Given the description of an element on the screen output the (x, y) to click on. 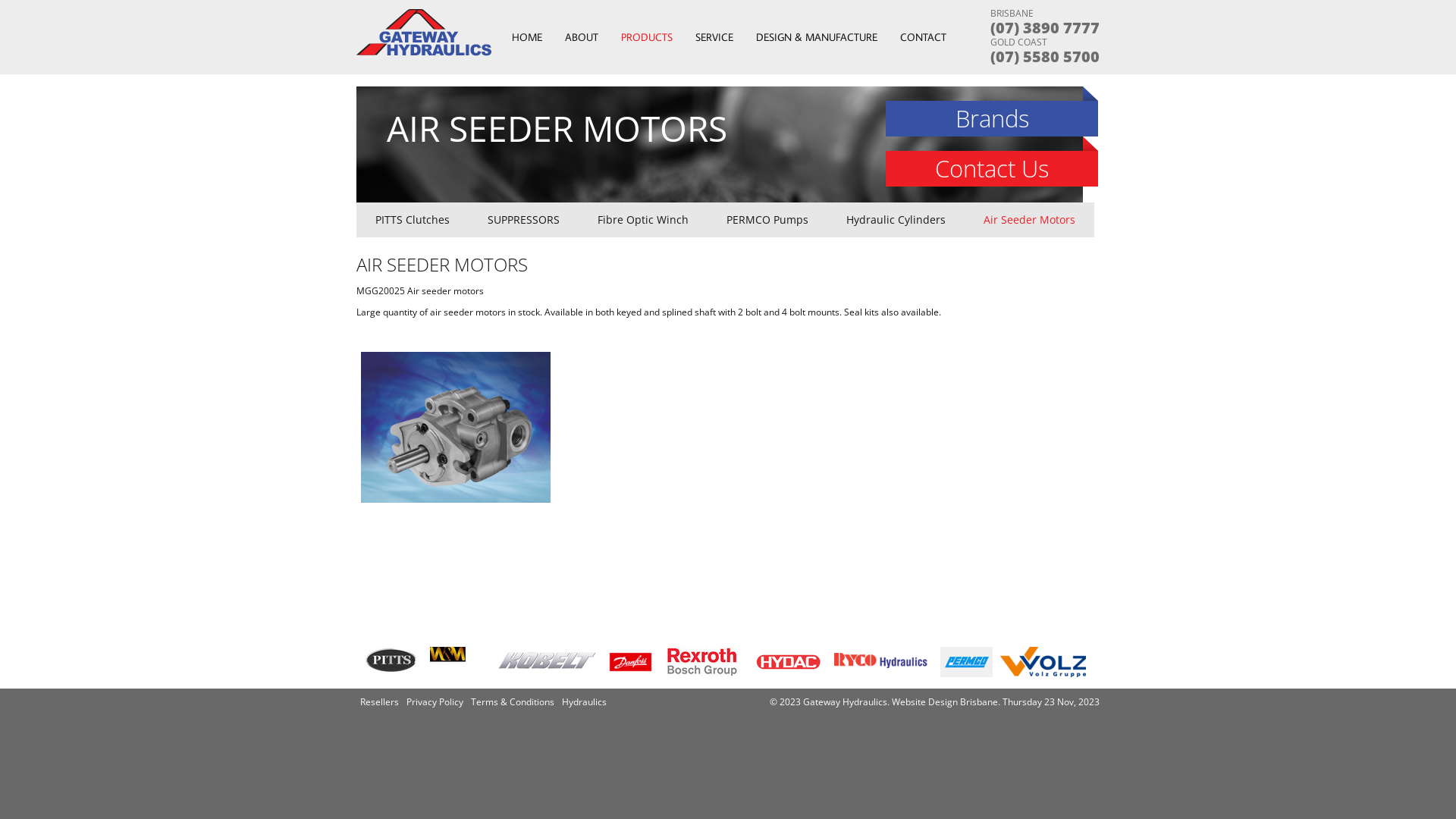
PITTS Clutches Element type: text (412, 219)
CONTACT Element type: text (922, 37)
Brands Element type: text (991, 118)
Hydraulic Cylinders Element type: text (895, 219)
Fibre Optic Winch Element type: text (642, 219)
DESIGN & MANUFACTURE Element type: text (816, 37)
SUPPRESSORS Element type: text (523, 219)
PERMCO Pumps Element type: text (767, 219)
PRODUCTS Element type: text (646, 37)
Air Seeder Motors Element type: text (1029, 219)
Contact Us Element type: text (991, 168)
Hydraulics Element type: text (584, 701)
ABOUT Element type: text (581, 37)
Resellers Element type: text (379, 701)
Terms & Conditions Element type: text (512, 701)
SERVICE Element type: text (714, 37)
Home Element type: hover (424, 52)
Privacy Policy Element type: text (434, 701)
Website Design Brisbane Element type: text (944, 701)
HOME Element type: text (526, 37)
